Given the description of an element on the screen output the (x, y) to click on. 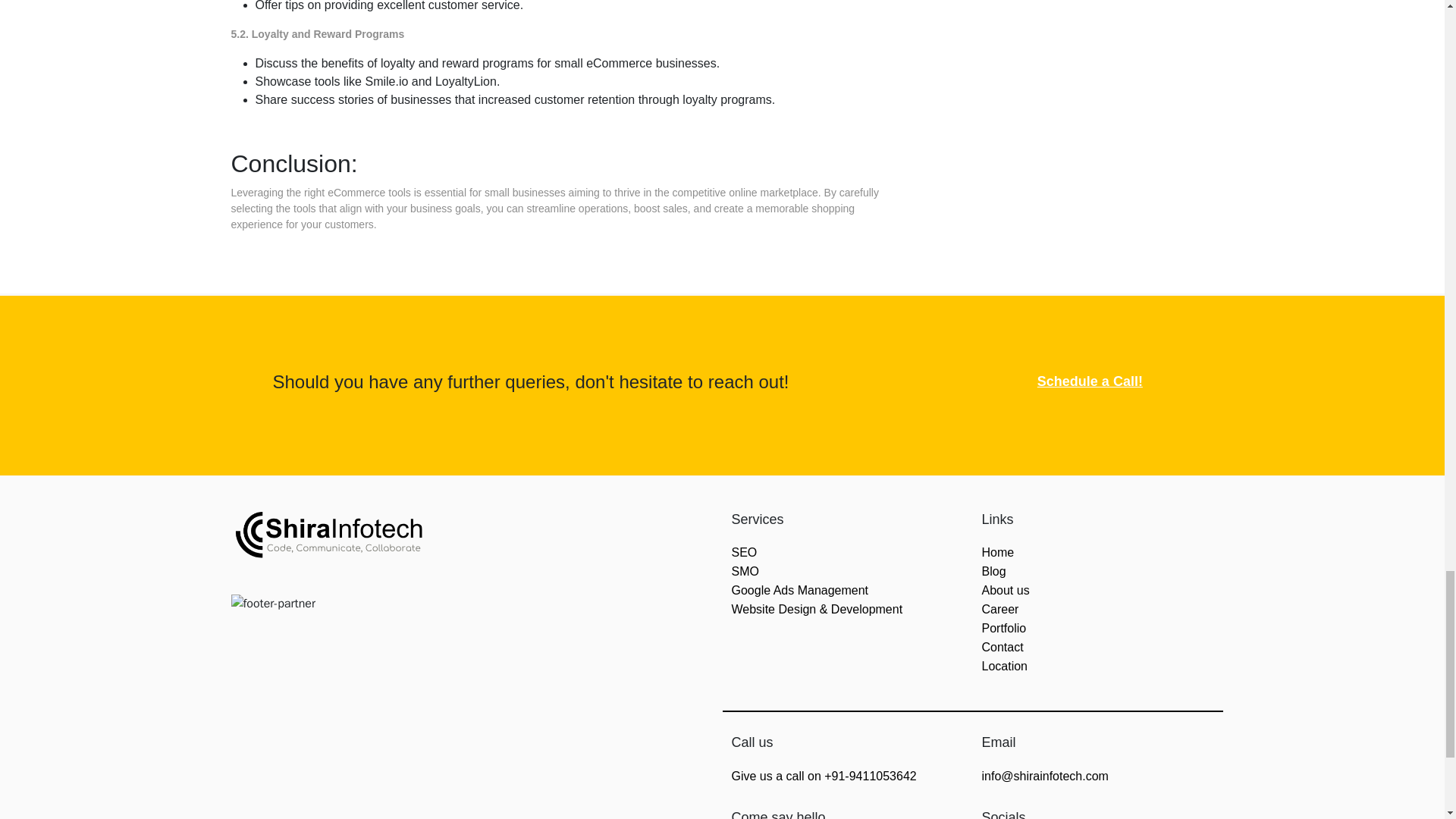
Career (999, 608)
Schedule a Call! (1089, 381)
Home (997, 552)
SEO (743, 552)
Blog (993, 571)
Location (1004, 666)
Contact (1002, 646)
Portfolio (1003, 627)
SMO (744, 571)
Google Ads Management (798, 590)
About us (1005, 590)
